Given the description of an element on the screen output the (x, y) to click on. 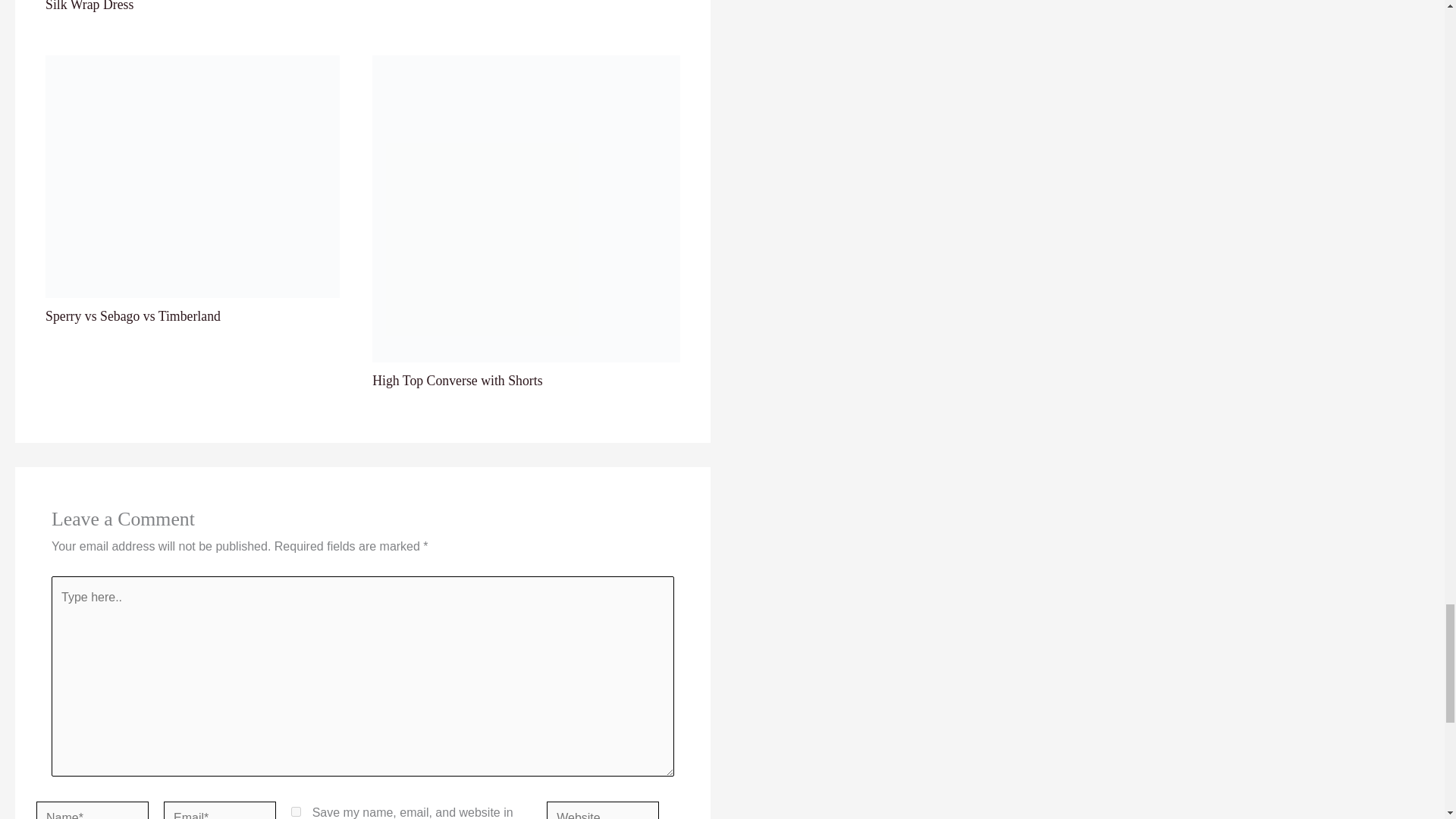
yes (296, 811)
Sperry vs Sebago vs Timberland (133, 315)
Silk Wrap Dress (89, 6)
High Top Converse with Shorts (456, 380)
